Given the description of an element on the screen output the (x, y) to click on. 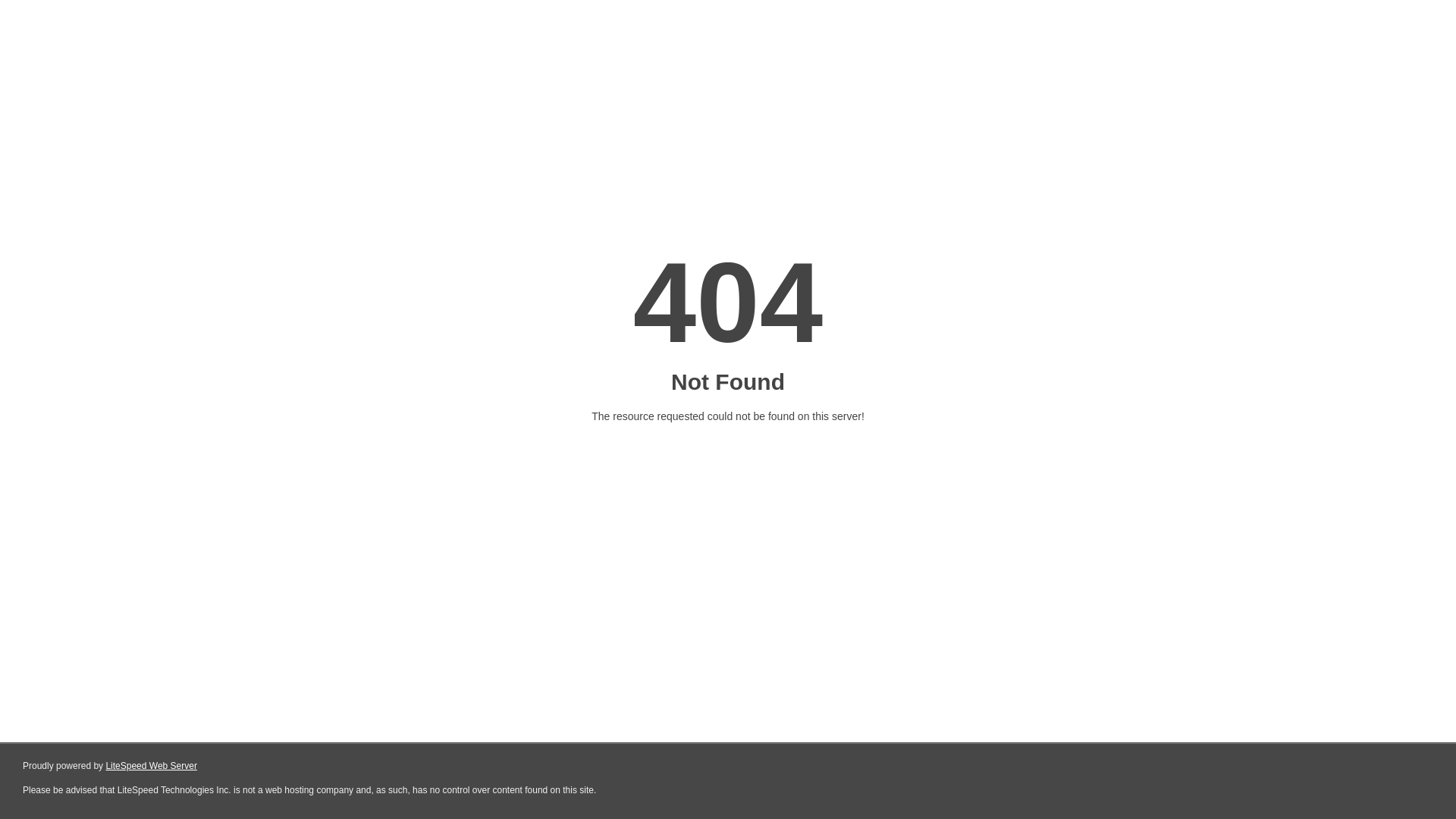
LiteSpeed Web Server Element type: text (151, 765)
